Given the description of an element on the screen output the (x, y) to click on. 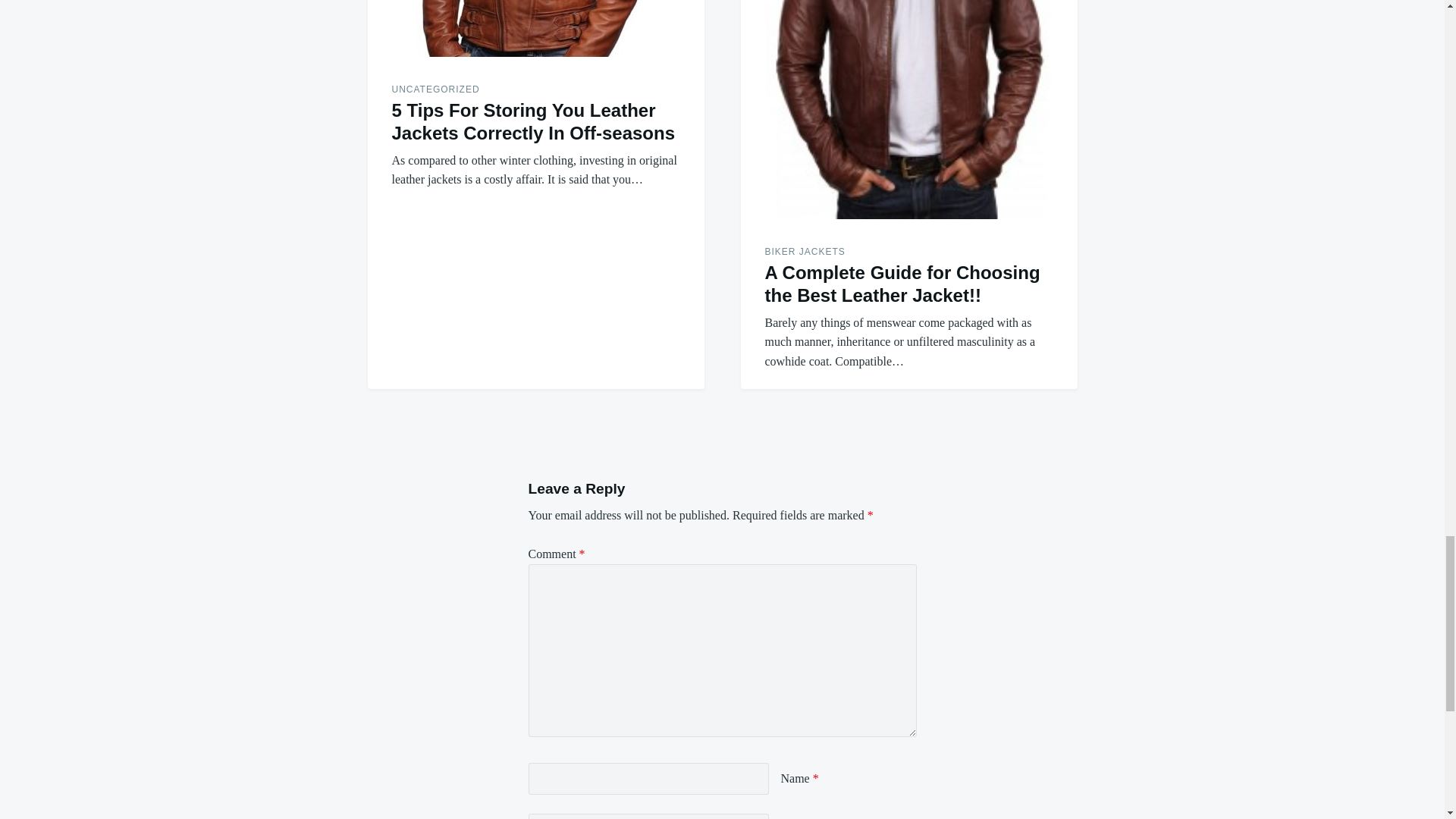
A Complete Guide for Choosing the Best Leather Jacket!! (908, 109)
UNCATEGORIZED (435, 89)
A Complete Guide for Choosing the Best Leather Jacket!! (901, 283)
BIKER JACKETS (804, 251)
